Given the description of an element on the screen output the (x, y) to click on. 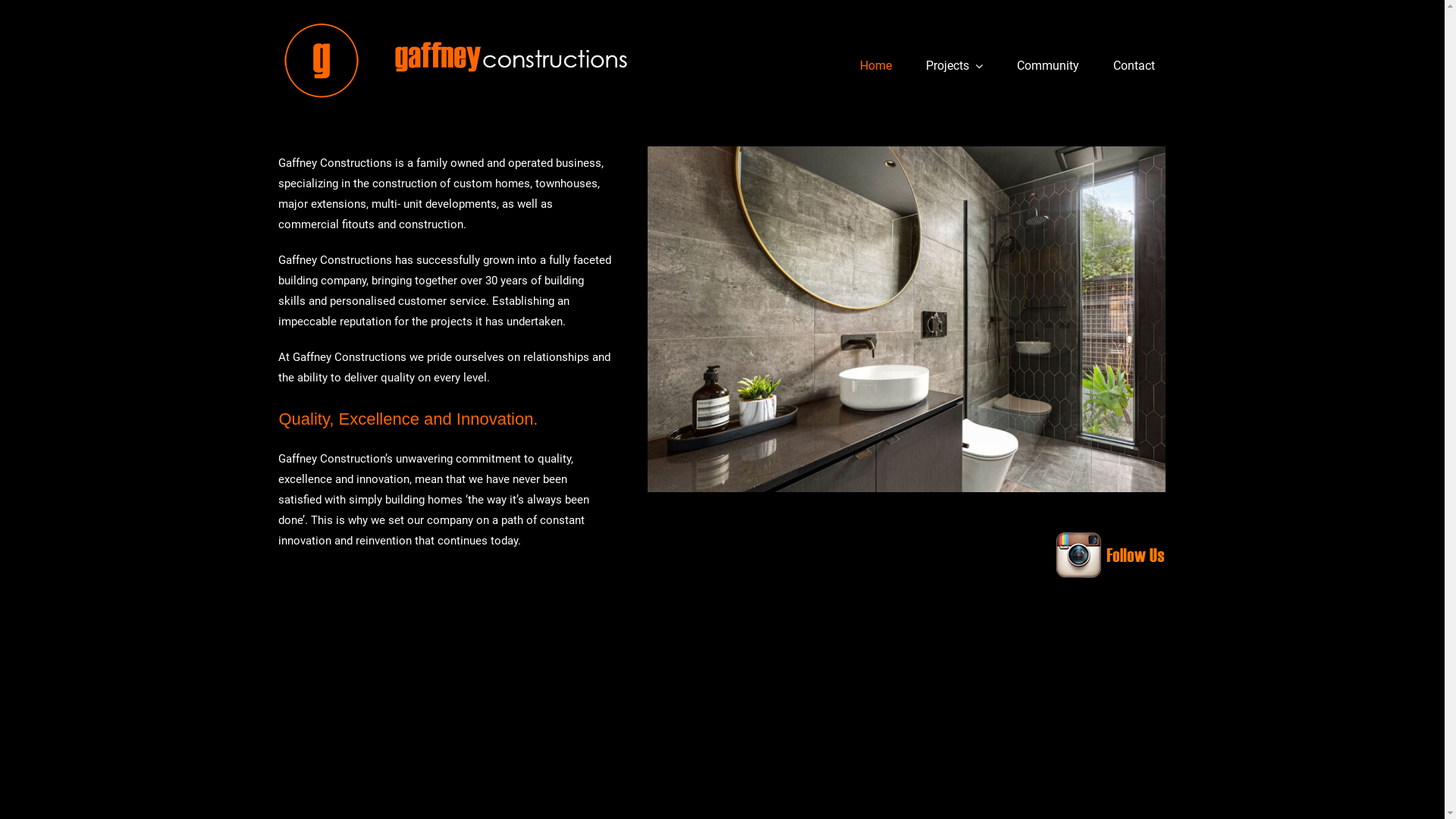
Community Element type: text (1047, 66)
Contact Element type: text (1133, 66)
Projects Element type: text (954, 66)
Home Element type: text (875, 66)
